Given the description of an element on the screen output the (x, y) to click on. 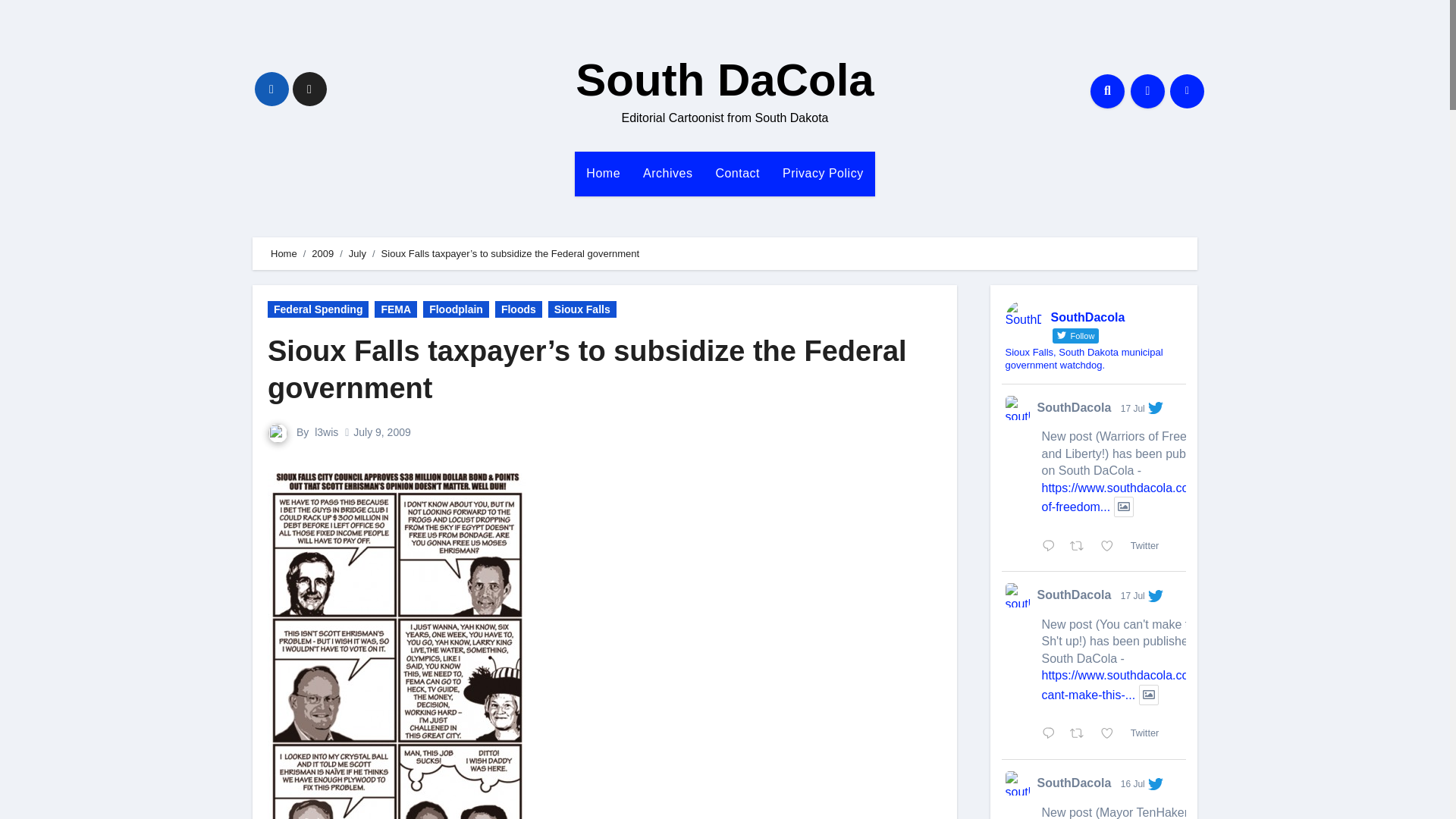
Federal Spending (317, 309)
Archives (667, 173)
South DaCola (724, 79)
Home (283, 253)
Privacy Policy (823, 173)
Archives (667, 173)
Home (603, 173)
l3wis (325, 431)
Privacy Policy (823, 173)
FEMA (395, 309)
